Given the description of an element on the screen output the (x, y) to click on. 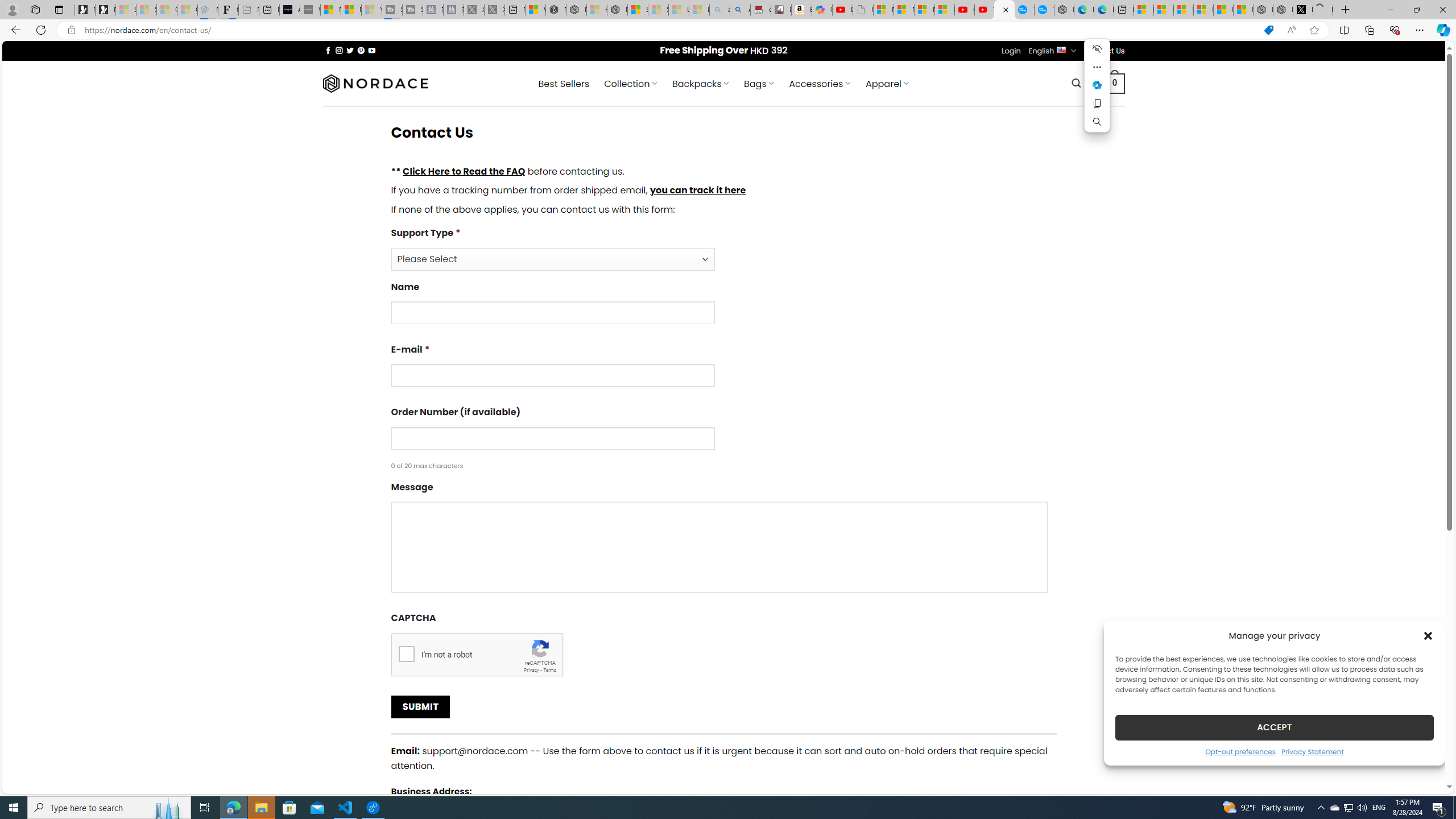
Order Number (if available)0 of 20 max characters (723, 437)
This site has coupons! Shopping in Microsoft Edge (1268, 29)
